Given the description of an element on the screen output the (x, y) to click on. 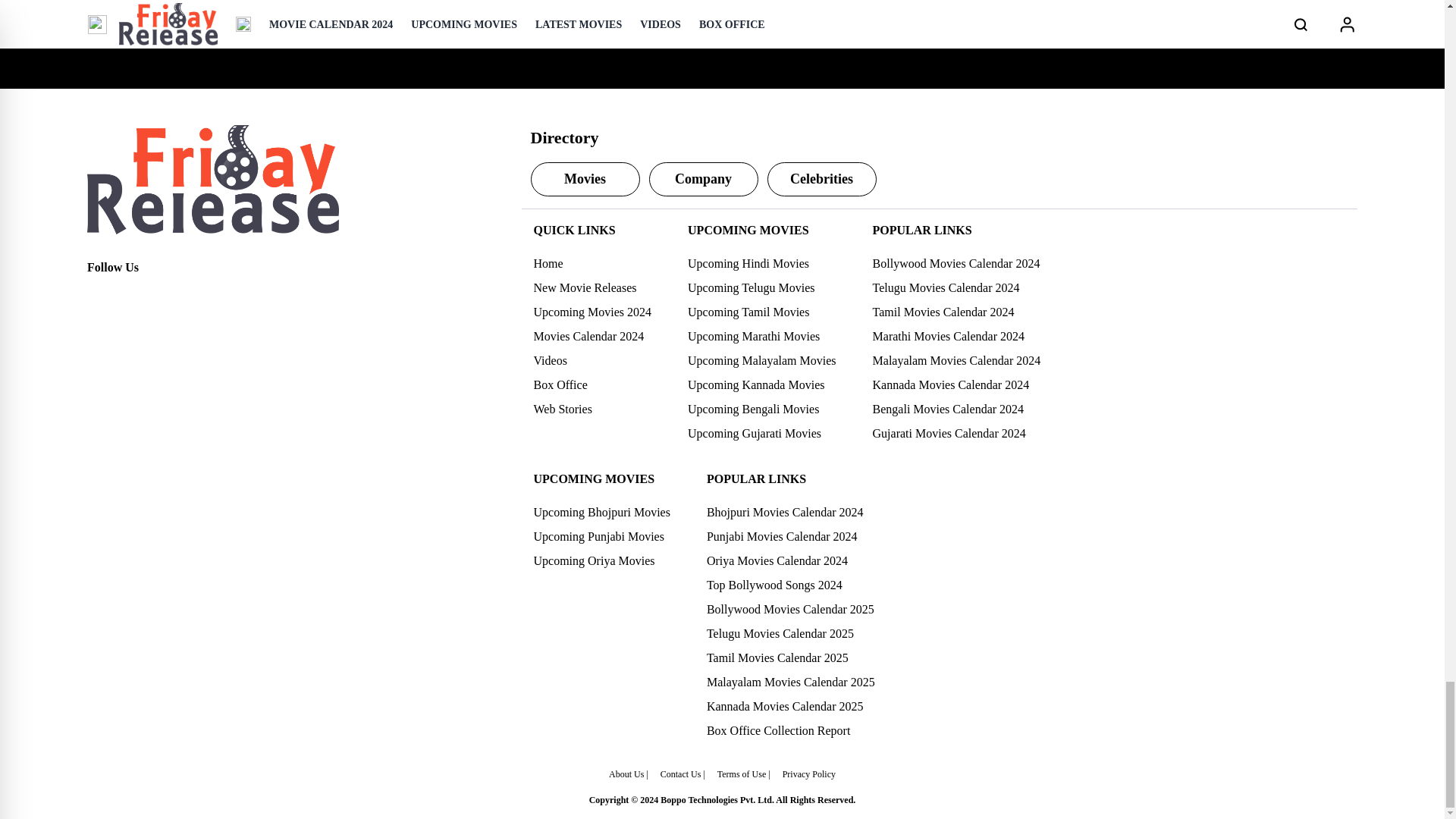
Youtube Page (199, 294)
Instagram Page (165, 294)
Facebook Page (99, 294)
Twitter Page (132, 294)
